Given the description of an element on the screen output the (x, y) to click on. 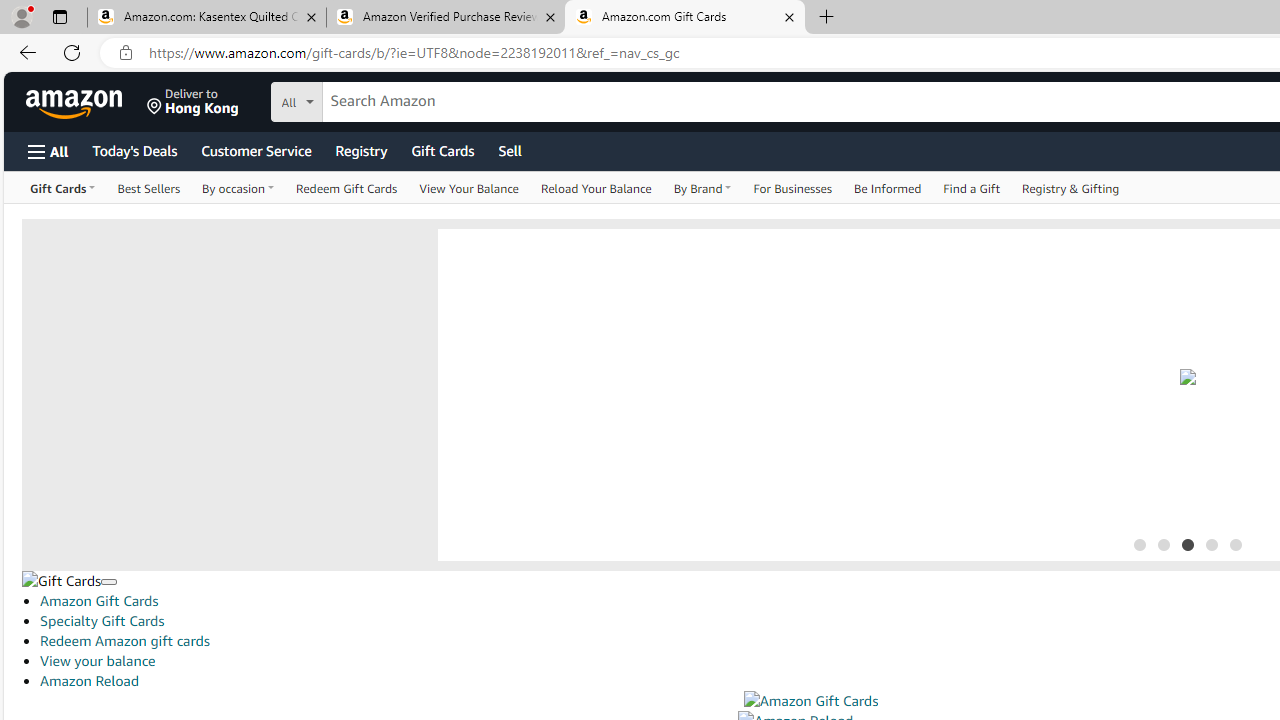
Amazon Reload (89, 680)
Specialty Gift Cards (102, 621)
Find a Gift (971, 187)
Amazon Verified Purchase Reviews - Amazon Customer Service (445, 17)
View Your Balance (468, 187)
Amazon.com Gift Cards (684, 17)
Deliver to Hong Kong (193, 101)
Amazon (76, 101)
